Given the description of an element on the screen output the (x, y) to click on. 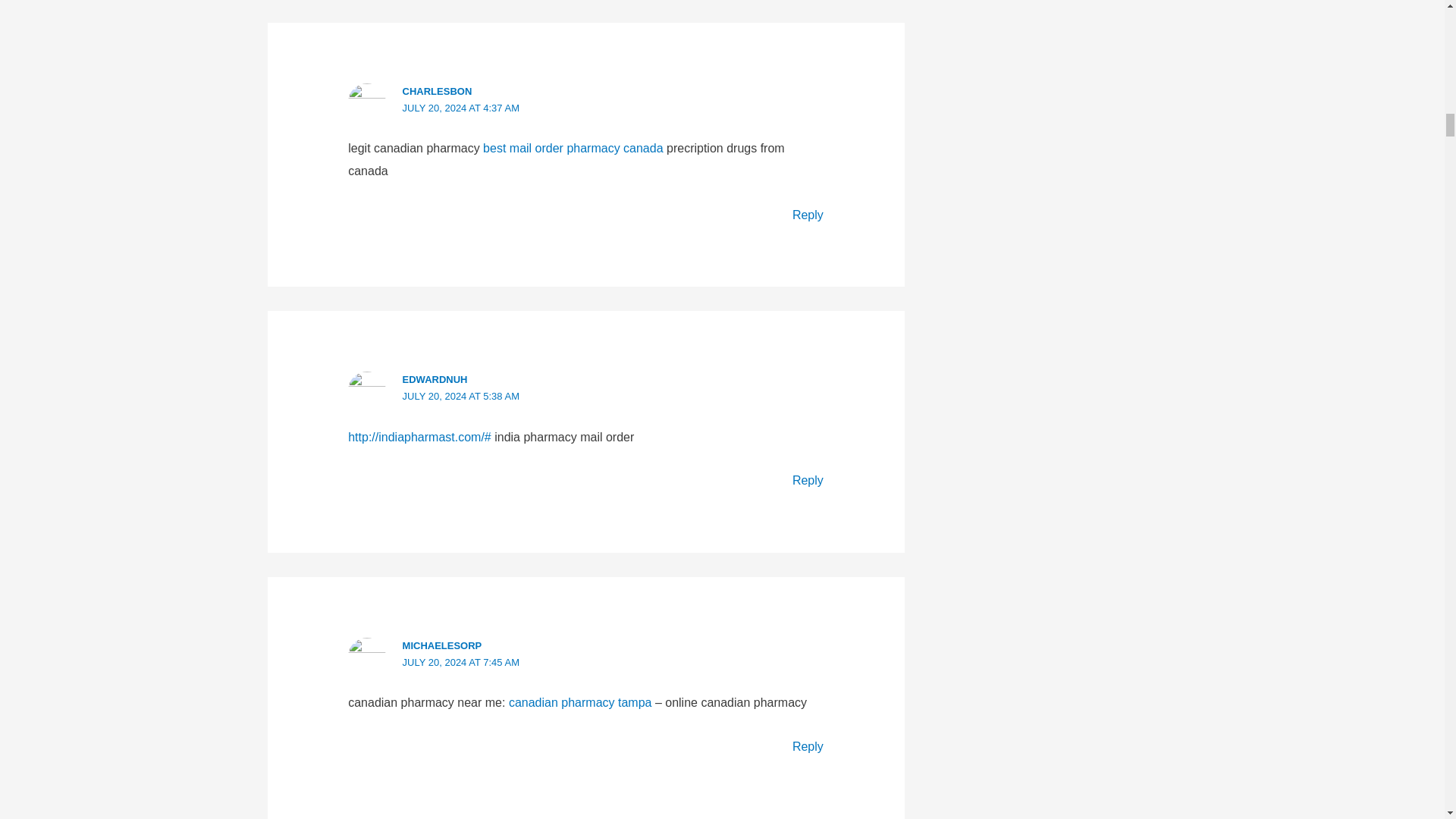
JULY 20, 2024 AT 4:37 AM (461, 107)
best mail order pharmacy canada (572, 147)
Reply (808, 214)
canadian pharmacy tampa (580, 702)
Reply (808, 480)
JULY 20, 2024 AT 7:45 AM (461, 662)
JULY 20, 2024 AT 5:38 AM (461, 396)
